Given the description of an element on the screen output the (x, y) to click on. 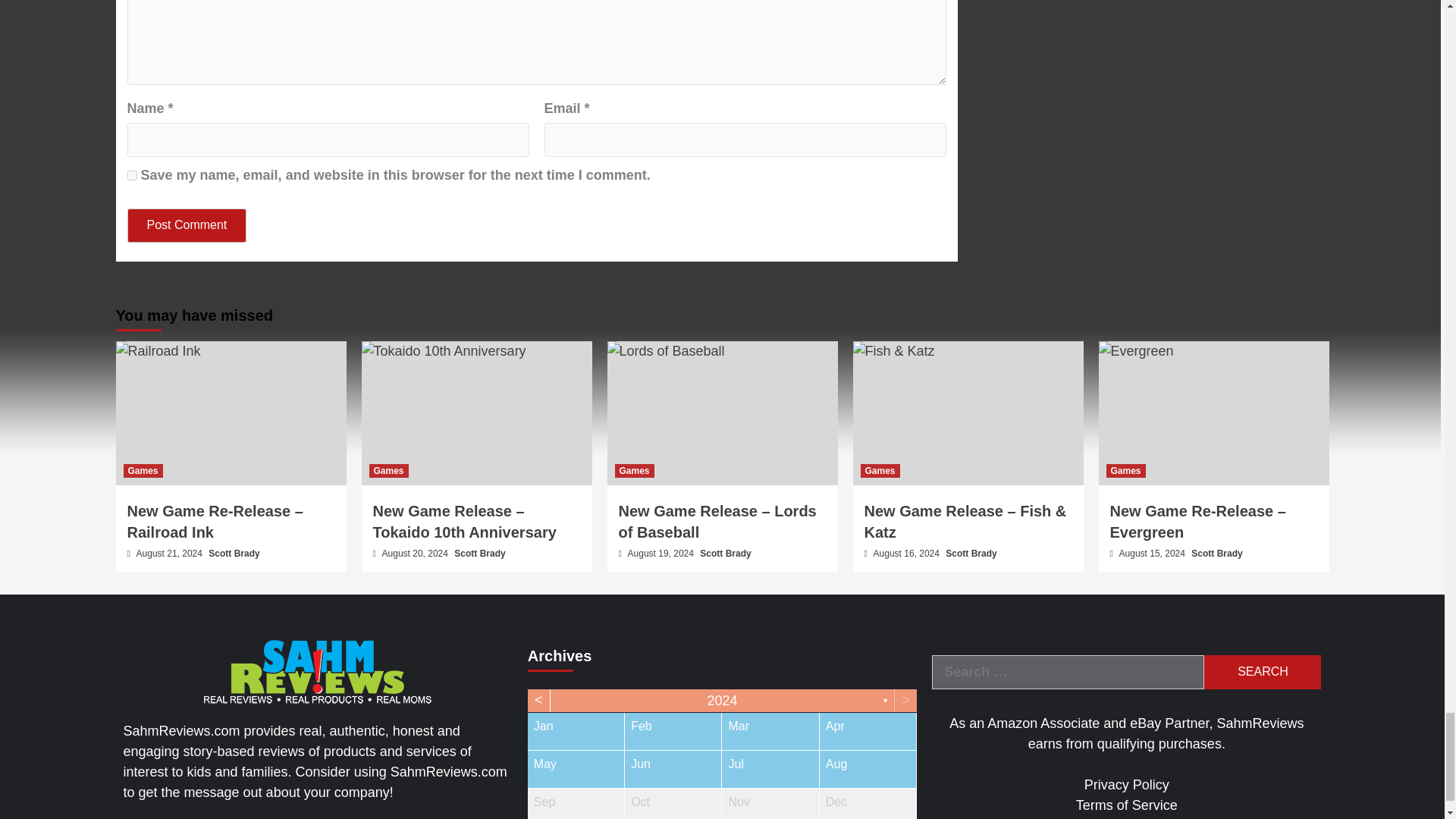
January, 2024 (575, 731)
Post Comment (187, 225)
February, 2024 (672, 731)
yes (132, 175)
Search (1262, 672)
Search (1262, 672)
March, 2024 (770, 731)
